Given the description of an element on the screen output the (x, y) to click on. 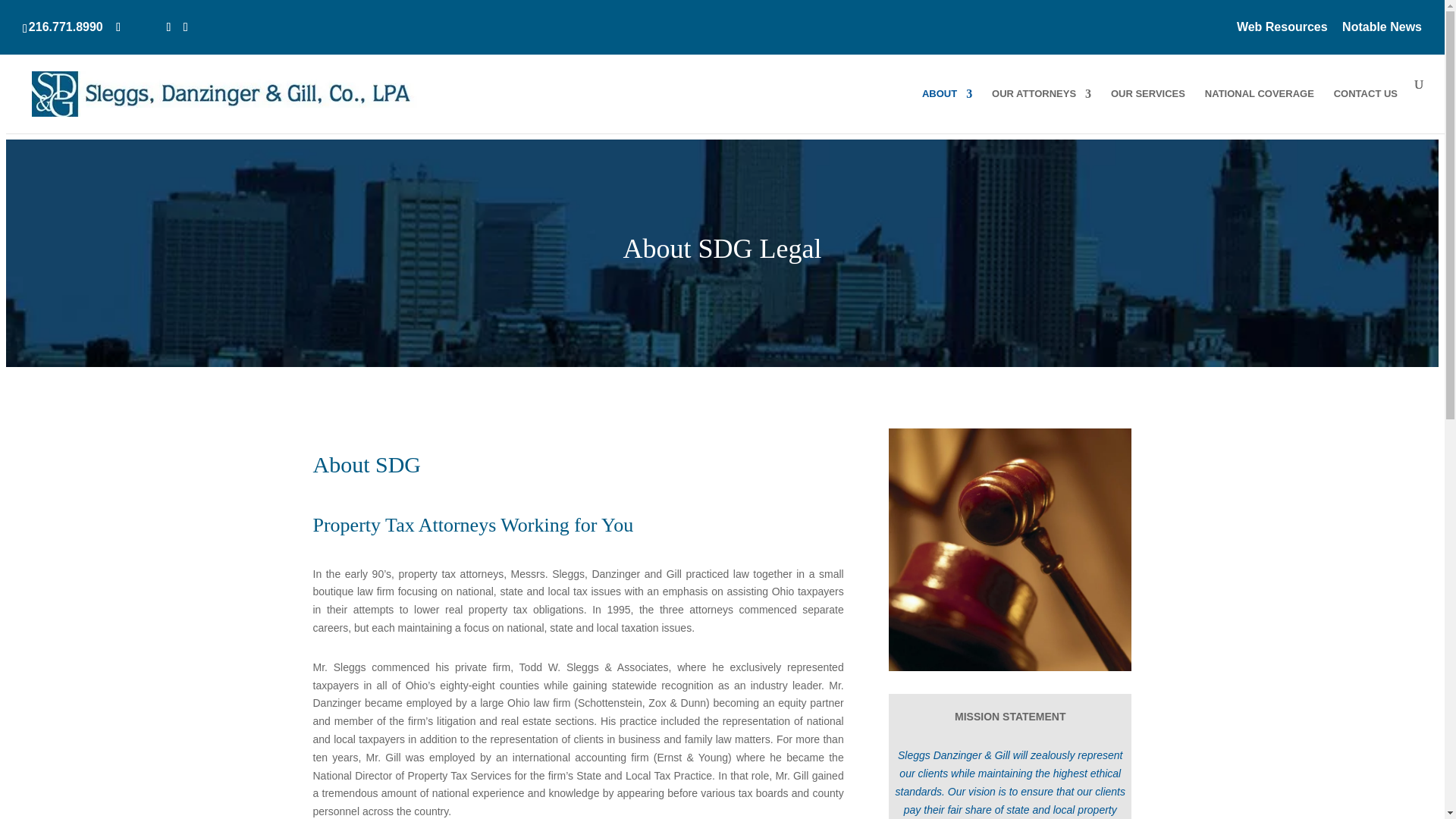
ABOUT (946, 105)
OUR ATTORNEYS (1040, 105)
CONTACT US (1365, 105)
216.771.8990 (68, 26)
NATIONAL COVERAGE (1259, 105)
Notable News (1382, 31)
Web Resources (1281, 31)
OUR SERVICES (1147, 105)
